Given the description of an element on the screen output the (x, y) to click on. 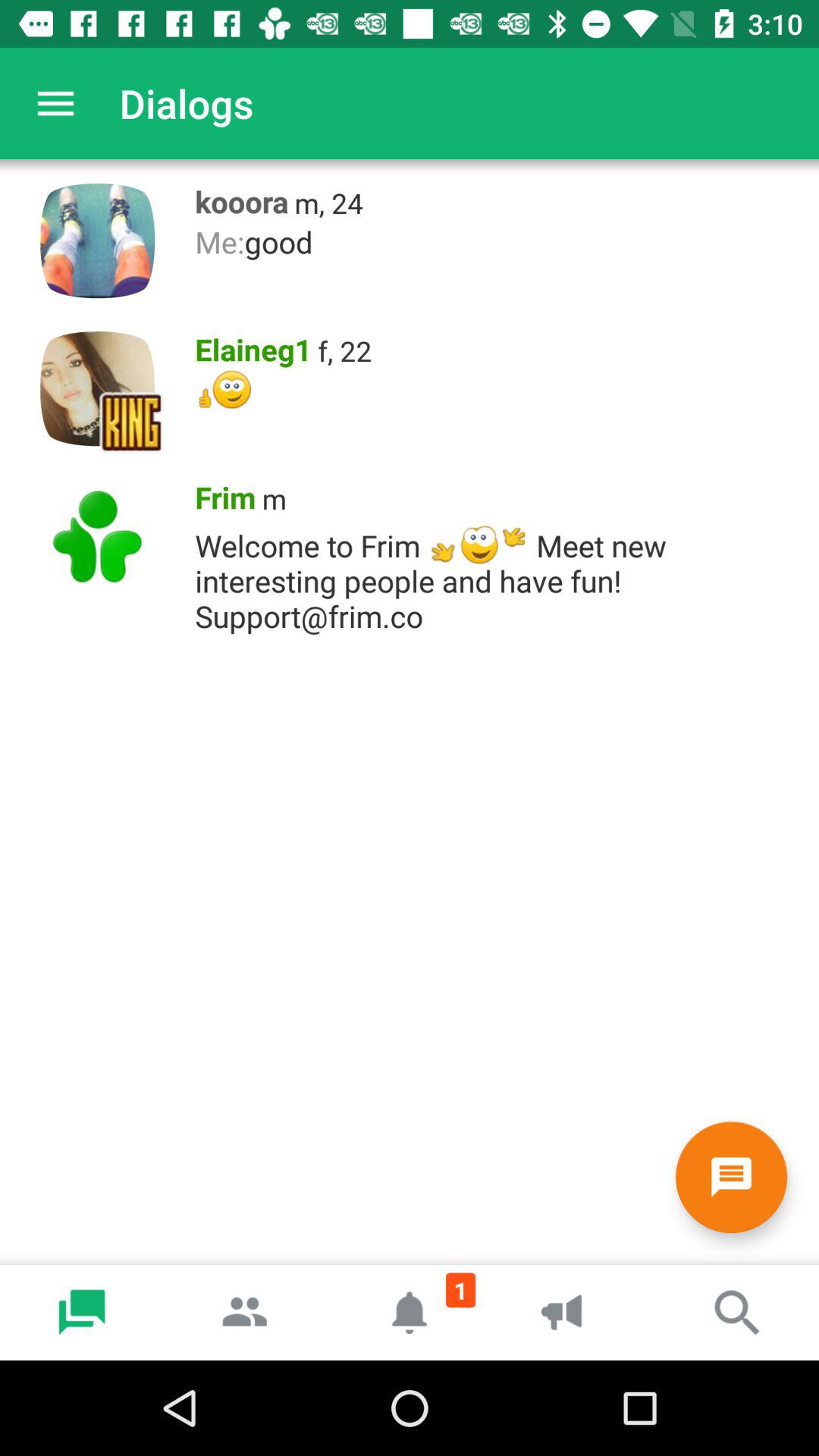
select item next to the elaineg1 icon (344, 350)
